Given the description of an element on the screen output the (x, y) to click on. 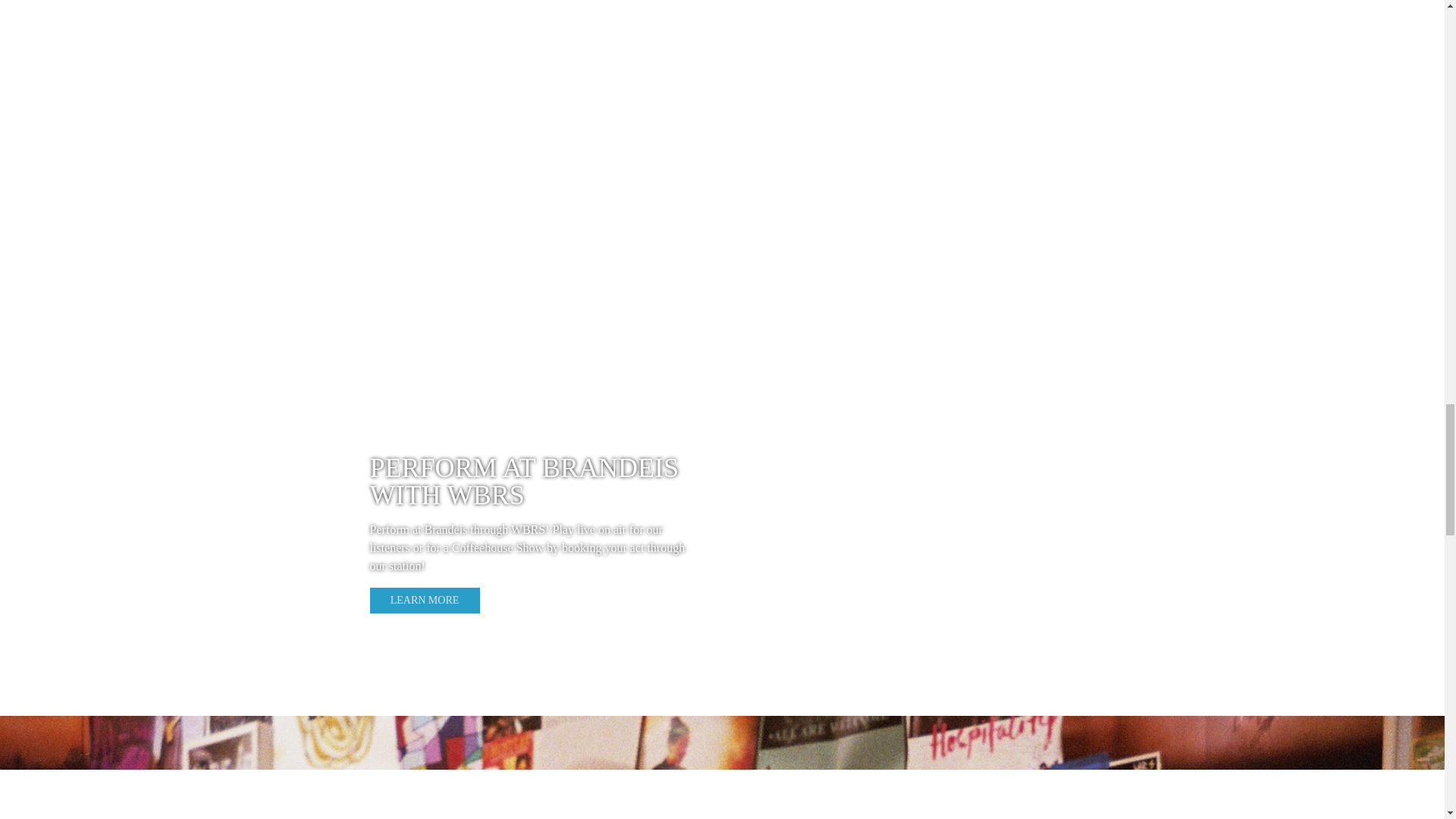
LEARN MORE (424, 600)
